Given the description of an element on the screen output the (x, y) to click on. 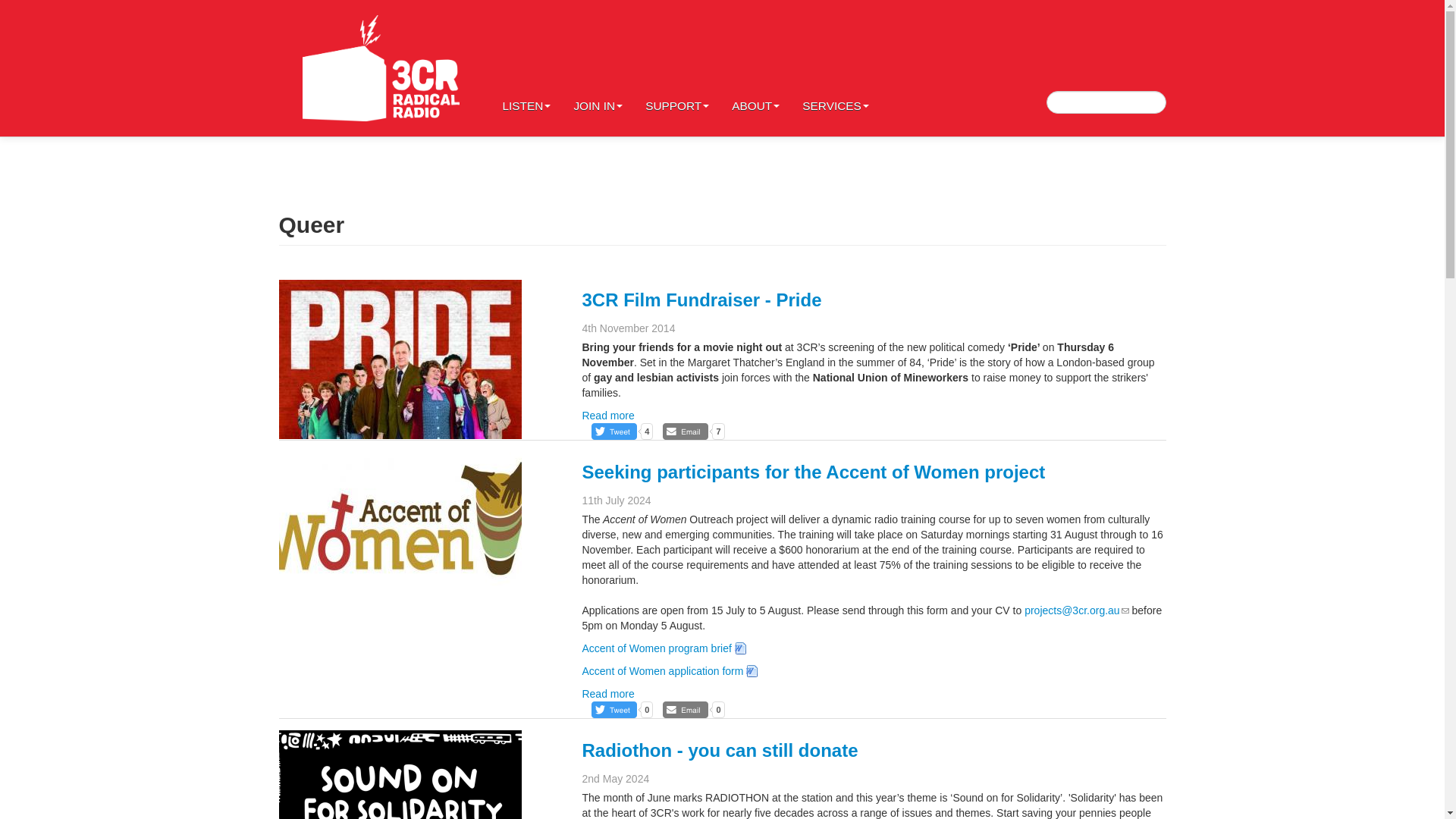
3CR Film Fundraiser - Pride (700, 299)
JOIN IN (597, 68)
Search (26, 11)
Accent of Women project (400, 531)
SERVICES (835, 68)
LISTEN (527, 68)
SUPPORT (676, 68)
Sound on for Solidarity - Aretha Brown  (400, 774)
ABOUT (755, 68)
Read more (606, 415)
Seeking participants for the Accent of Women project (812, 471)
Enter the terms you wish to search for. (1106, 101)
3CR Film Fundraiser (400, 359)
Home (381, 68)
